Given the description of an element on the screen output the (x, y) to click on. 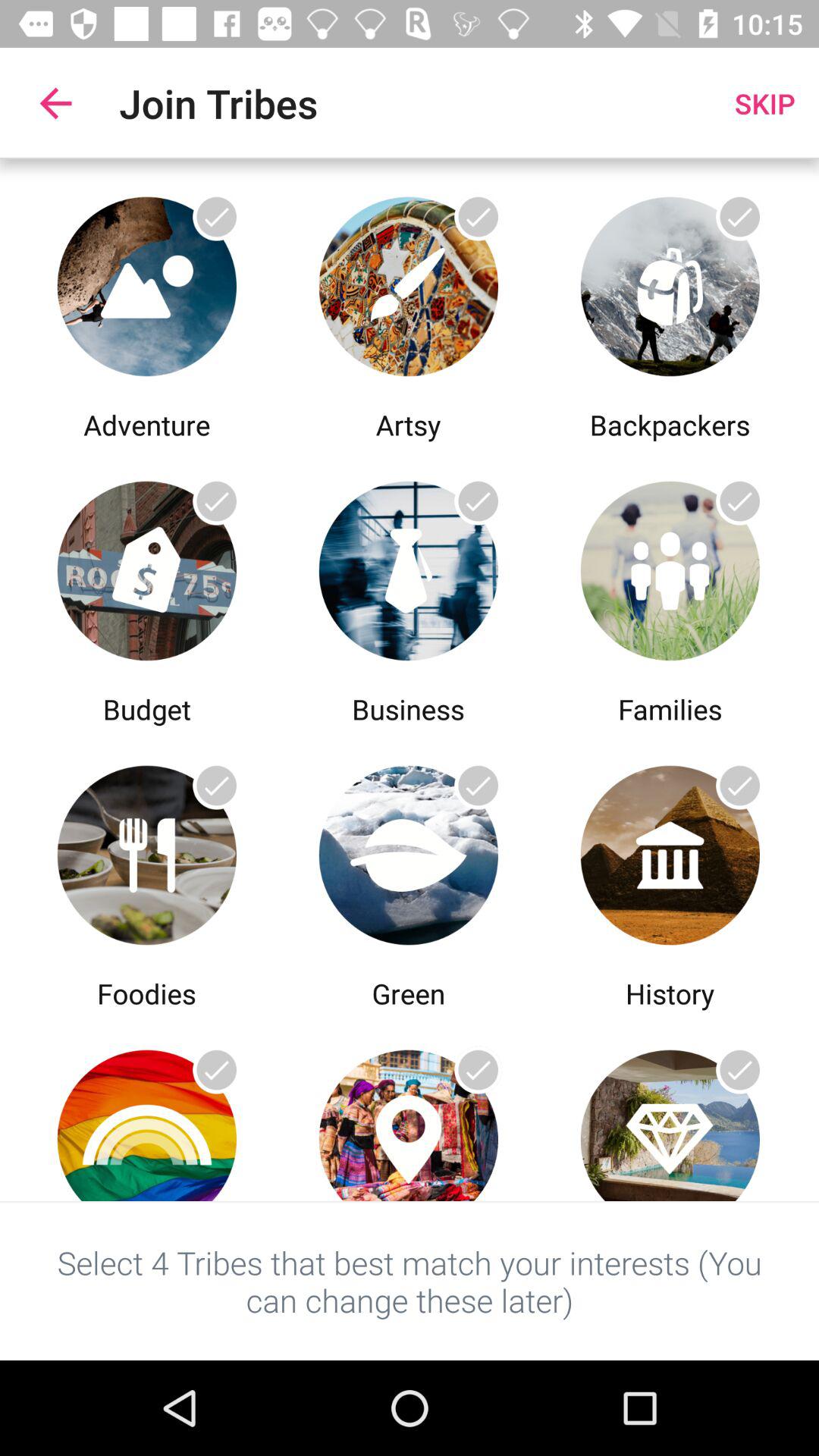
comidas (146, 851)
